Given the description of an element on the screen output the (x, y) to click on. 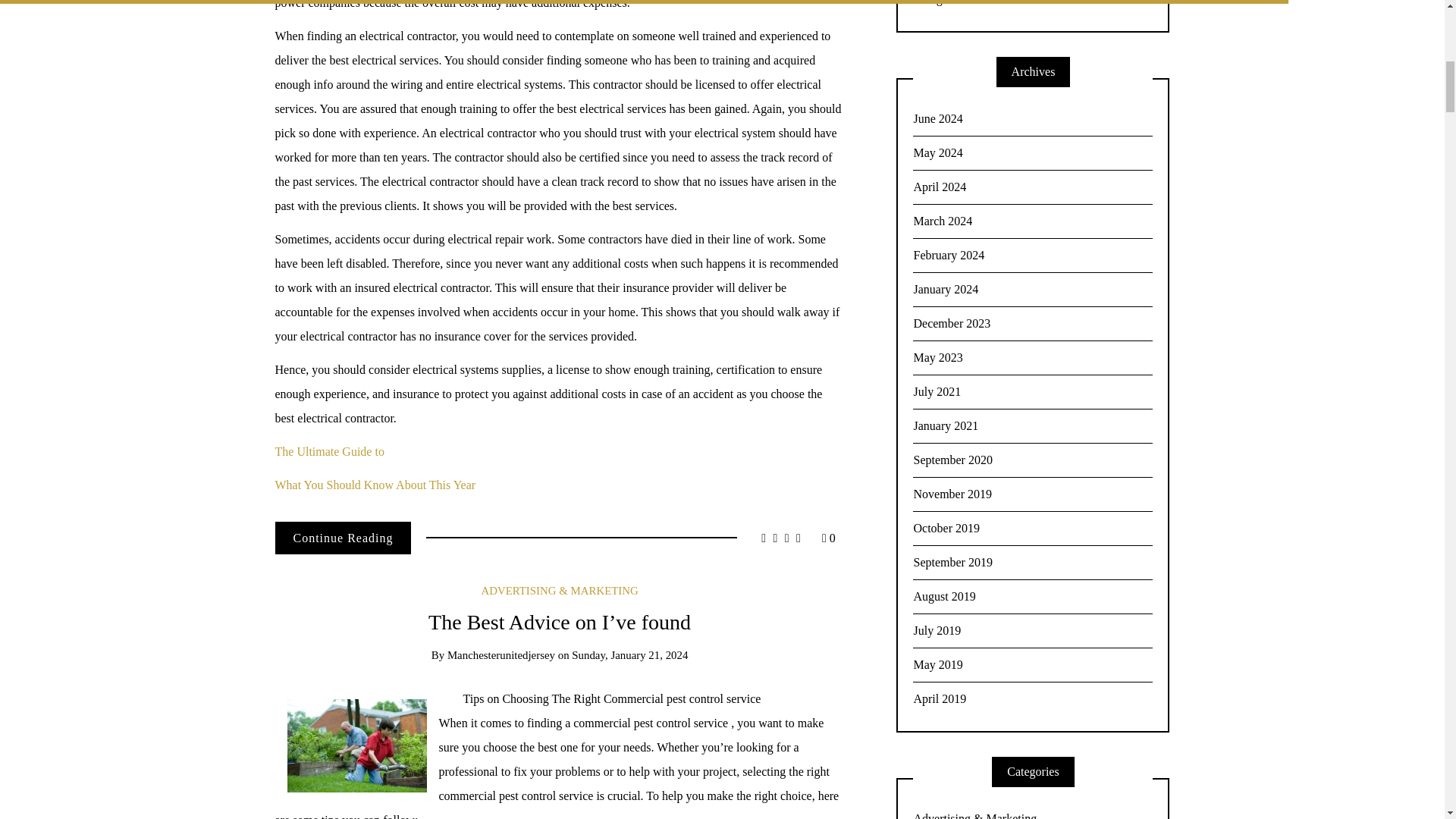
The Ultimate Guide to (329, 451)
Posts by manchesterunitedjersey (500, 654)
What You Should Know About This Year (375, 484)
Learning The Secrets About (342, 537)
Sunday, January 21, 2024 (629, 654)
Manchesterunitedjersey (500, 654)
Continue Reading (342, 537)
0 (828, 537)
